Given the description of an element on the screen output the (x, y) to click on. 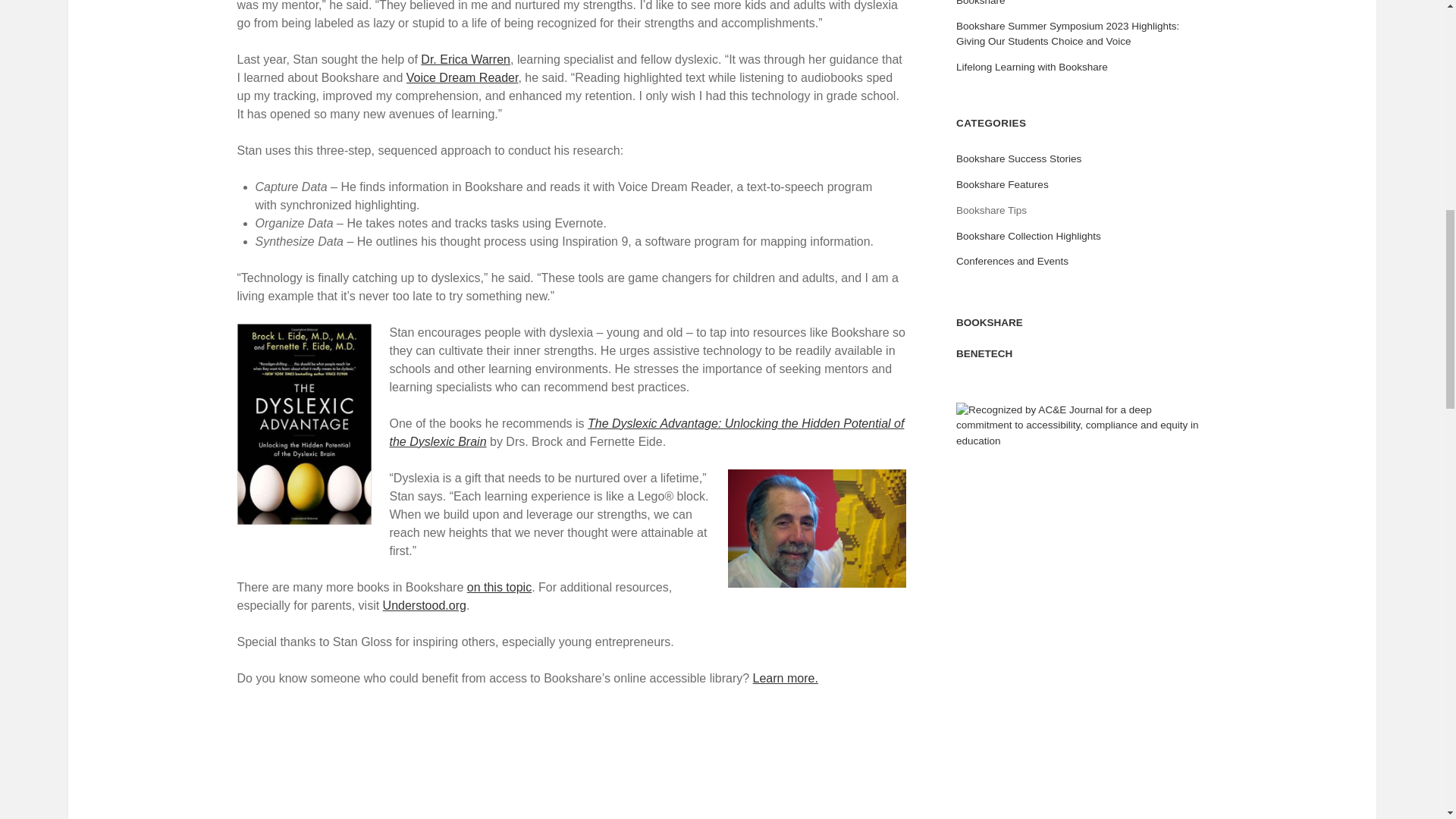
Learn more. (785, 677)
on this topic (499, 586)
Voice Dream Reader (462, 77)
Understood.org (423, 604)
Dr. Erica Warren (465, 59)
